Given the description of an element on the screen output the (x, y) to click on. 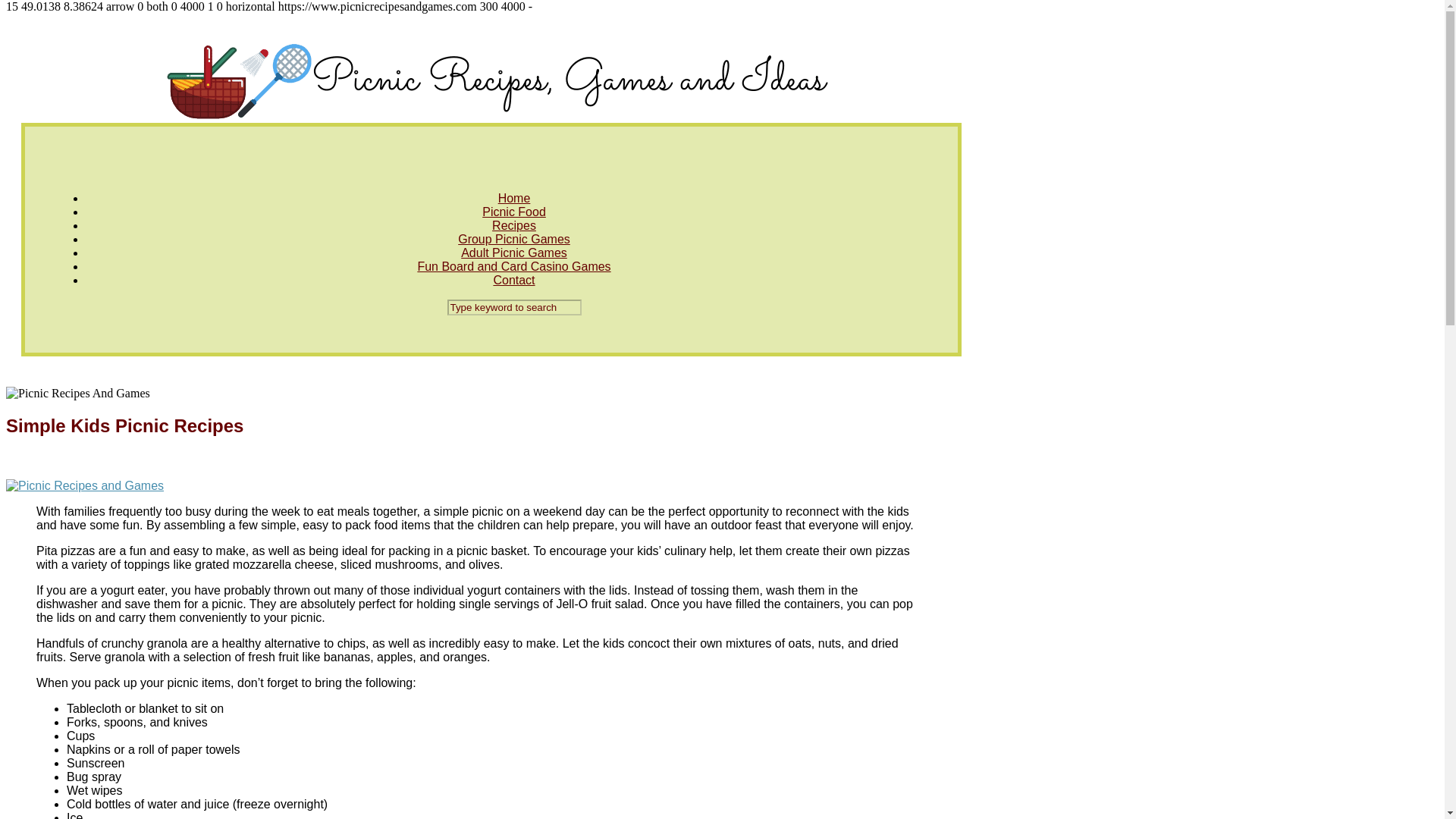
Home (514, 197)
Group Picnic Games (514, 238)
Fun Board and Card Casino Games (513, 266)
Adult Picnic Games (514, 252)
Type keyword to search (513, 307)
Picnic Food (513, 211)
Recipes (513, 225)
Type keyword to search (513, 307)
Contact (513, 279)
